Given the description of an element on the screen output the (x, y) to click on. 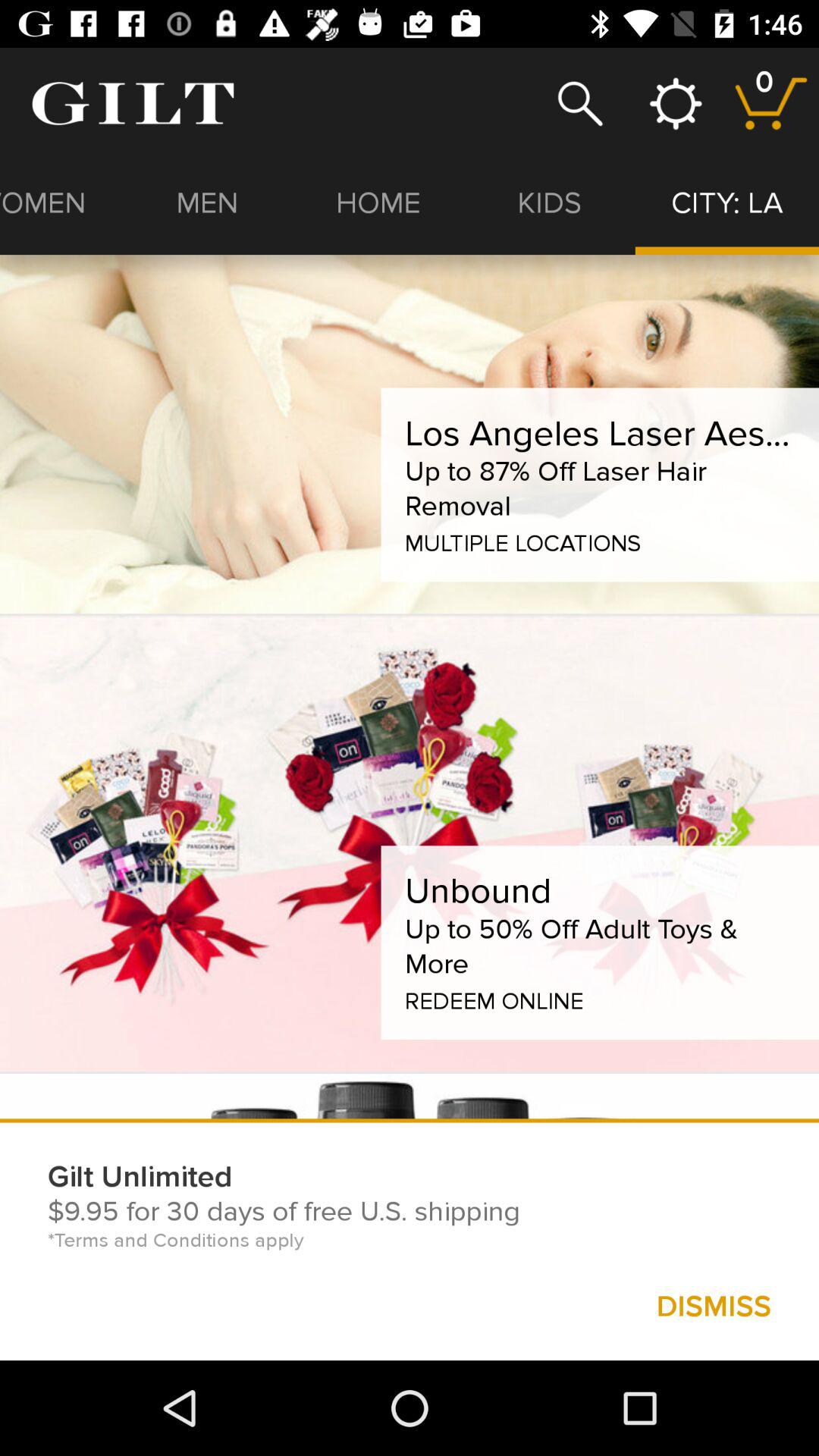
select the redeem online (493, 997)
